Given the description of an element on the screen output the (x, y) to click on. 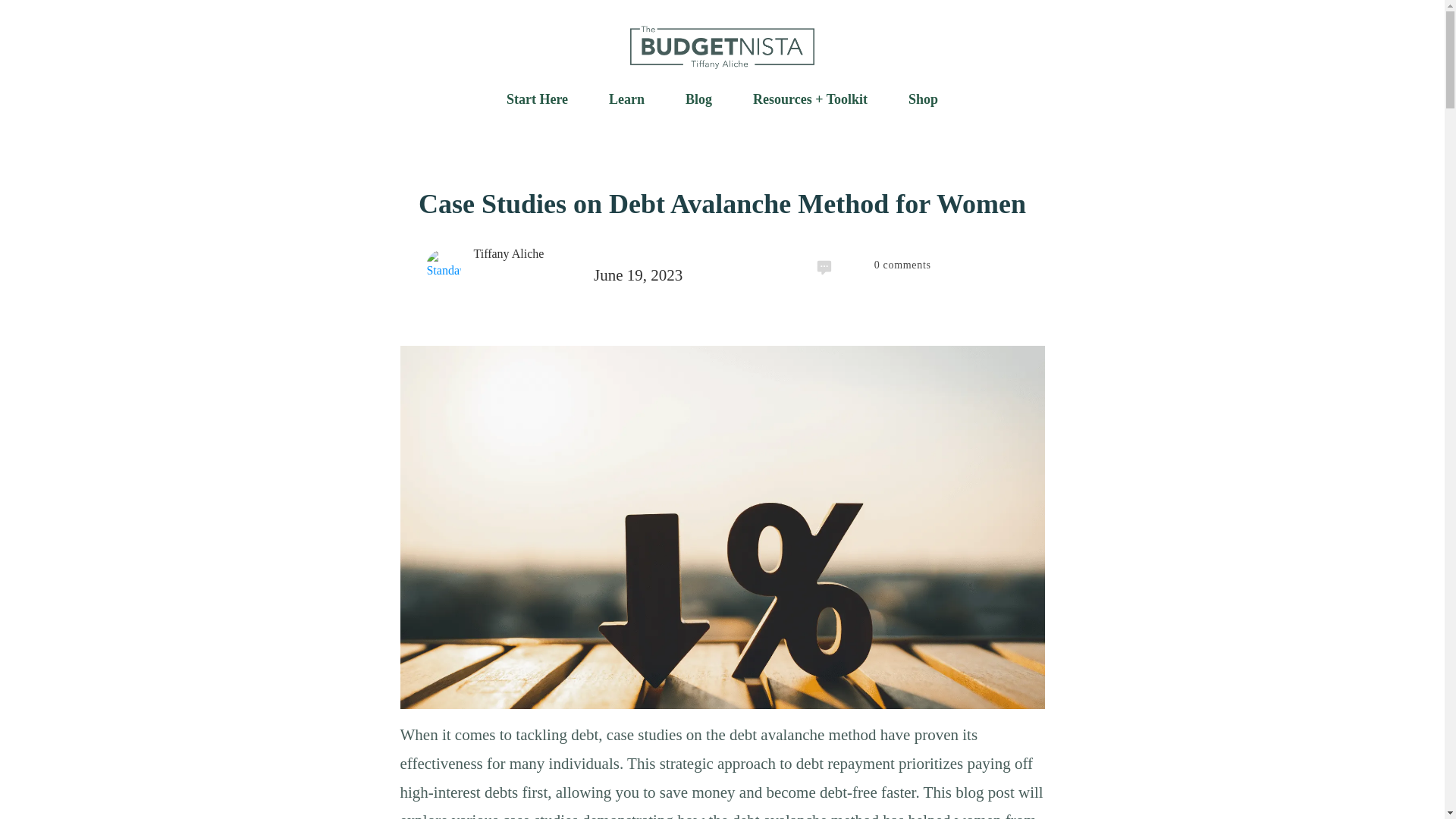
Start Here (536, 99)
Standard Post (443, 266)
0 comments (1122, 266)
budgetnista logo darkgreen (721, 46)
Case Studies on Debt Avalanche Method for Women (722, 204)
Learn (626, 99)
Shop (922, 99)
Case Studies on Debt Avalanche Method for Women (722, 204)
Blog (698, 99)
